Given the description of an element on the screen output the (x, y) to click on. 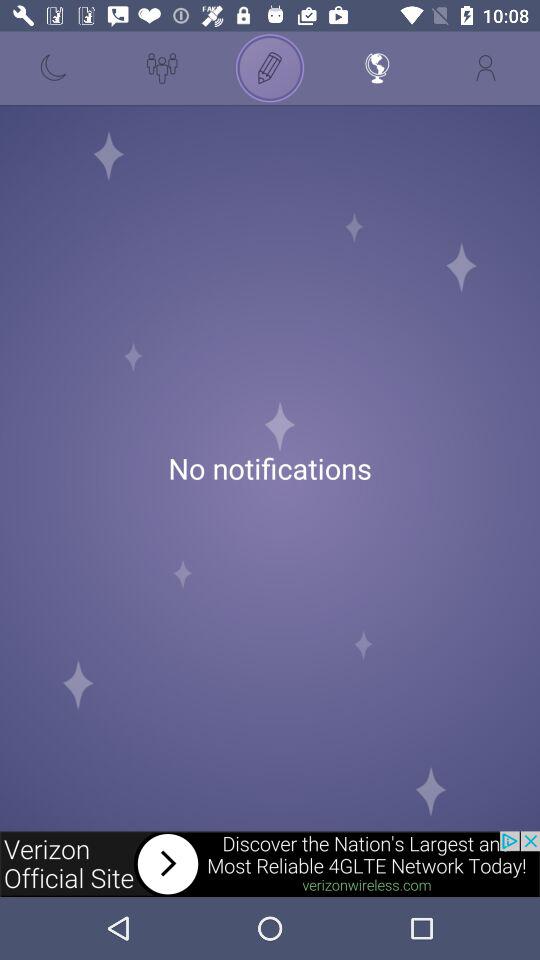
discuss (269, 68)
